Given the description of an element on the screen output the (x, y) to click on. 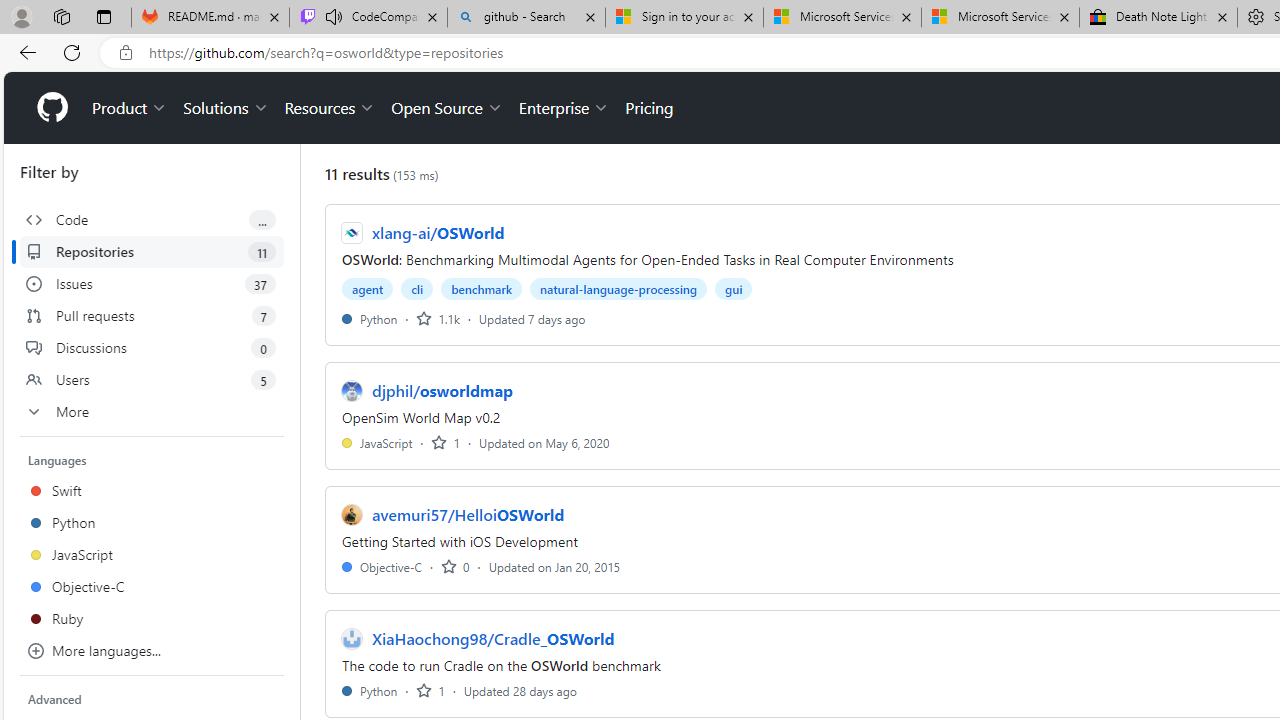
Python (369, 690)
Homepage (51, 107)
Updated on Jan 20, 2015 (553, 566)
More (152, 411)
JavaScript (377, 442)
Solutions (225, 107)
Resources (330, 107)
avemuri57/HelloiOSWorld (468, 515)
Pricing (649, 107)
